Given the description of an element on the screen output the (x, y) to click on. 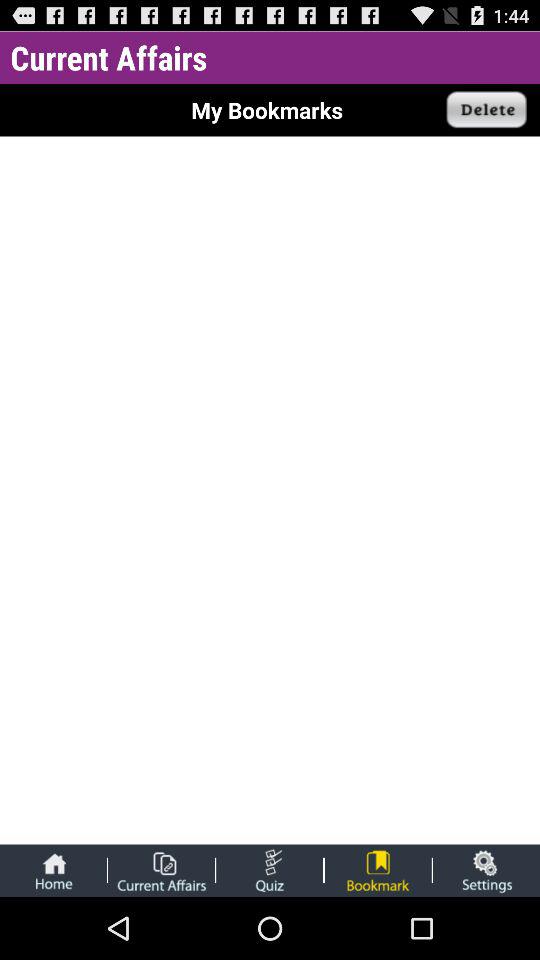
go to home tab (53, 870)
